Given the description of an element on the screen output the (x, y) to click on. 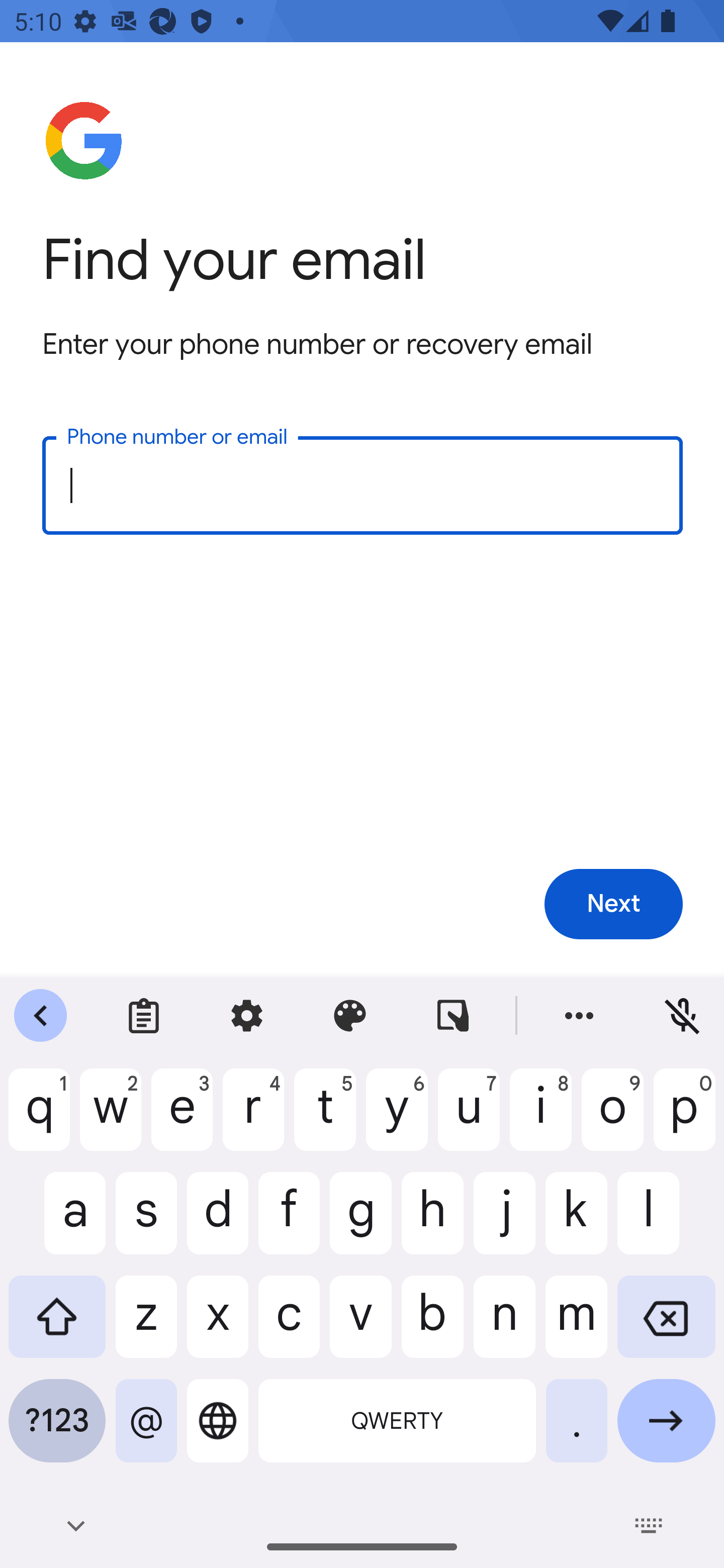
Next (613, 904)
